Given the description of an element on the screen output the (x, y) to click on. 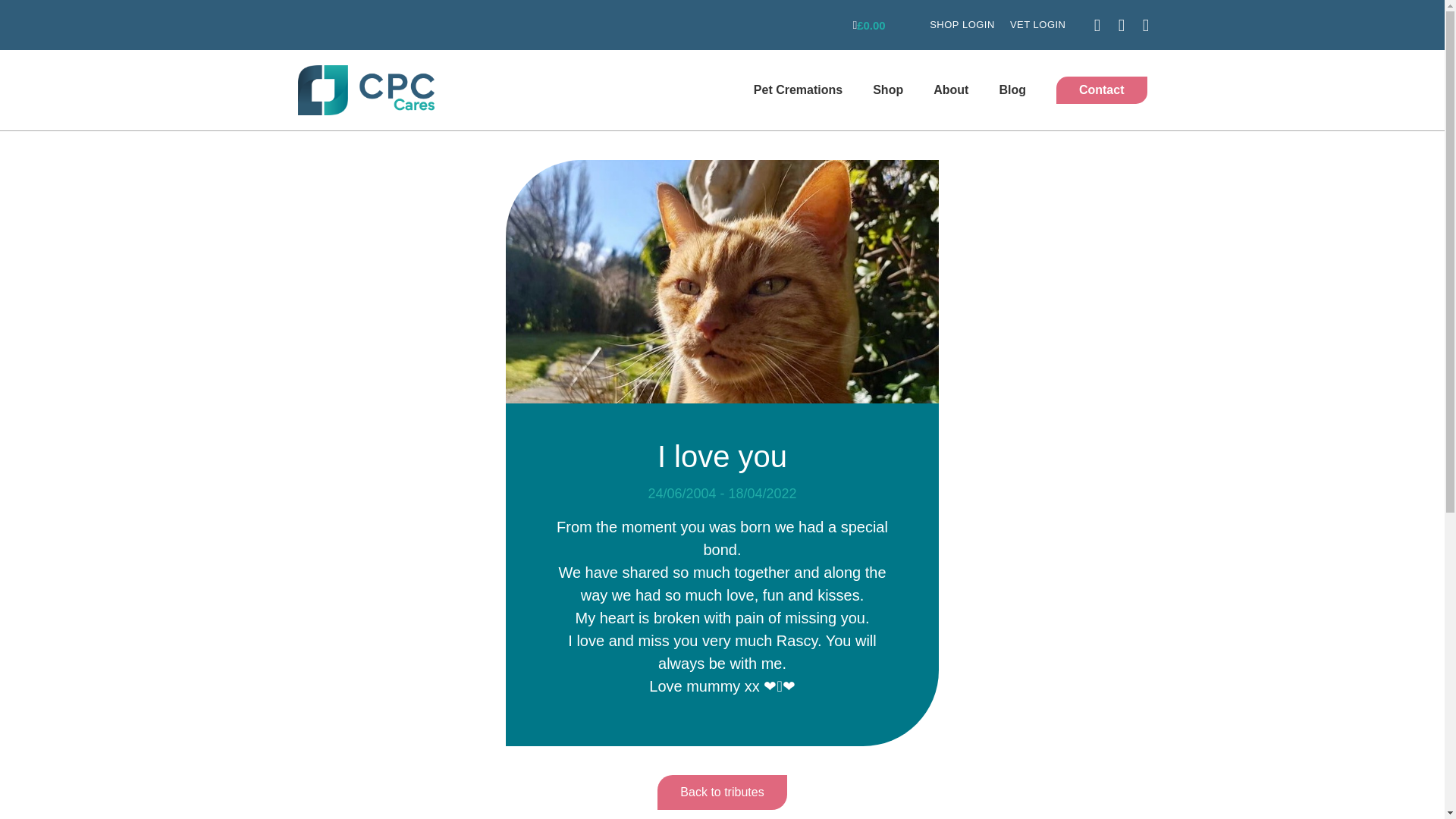
SHOP LOGIN (962, 24)
Shop (887, 89)
About (951, 89)
Pet Cremations (797, 89)
Back to tributes (722, 791)
VET LOGIN (1038, 24)
Blog (1012, 89)
Contact (1102, 90)
